Given the description of an element on the screen output the (x, y) to click on. 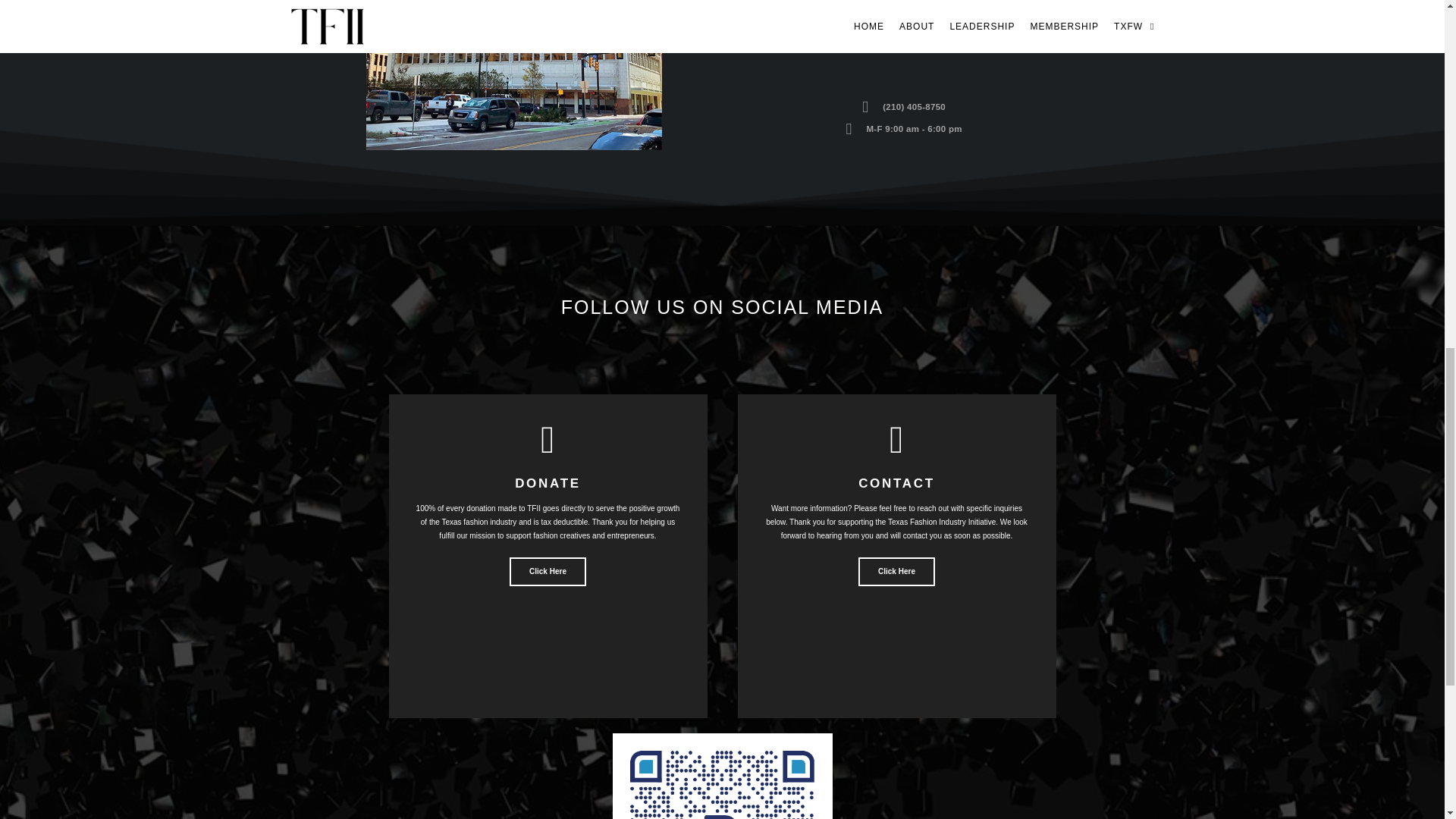
Click Here (896, 571)
110 E. HOUSTON ST., SAN ANTONIO, TX 78205 (899, 42)
Click Here (547, 571)
